Given the description of an element on the screen output the (x, y) to click on. 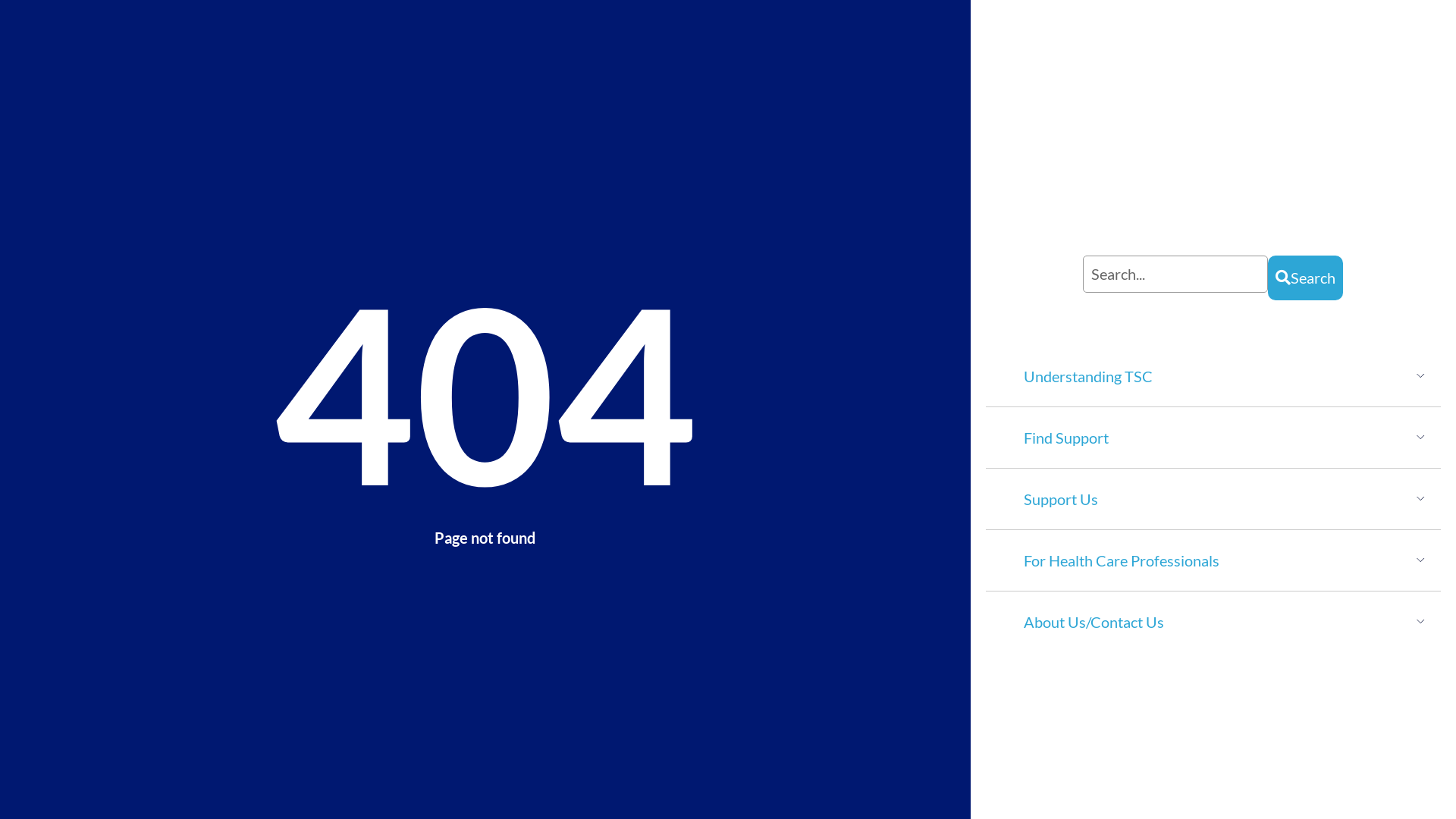
Search Element type: text (1305, 278)
Find Support Element type: text (1066, 437)
Support Us Element type: text (1060, 498)
Understanding TSC Element type: text (1088, 375)
About Us/Contact Us Element type: text (1093, 621)
For Health Care Professionals Element type: text (1121, 560)
Search Element type: hover (1174, 274)
